Given the description of an element on the screen output the (x, y) to click on. 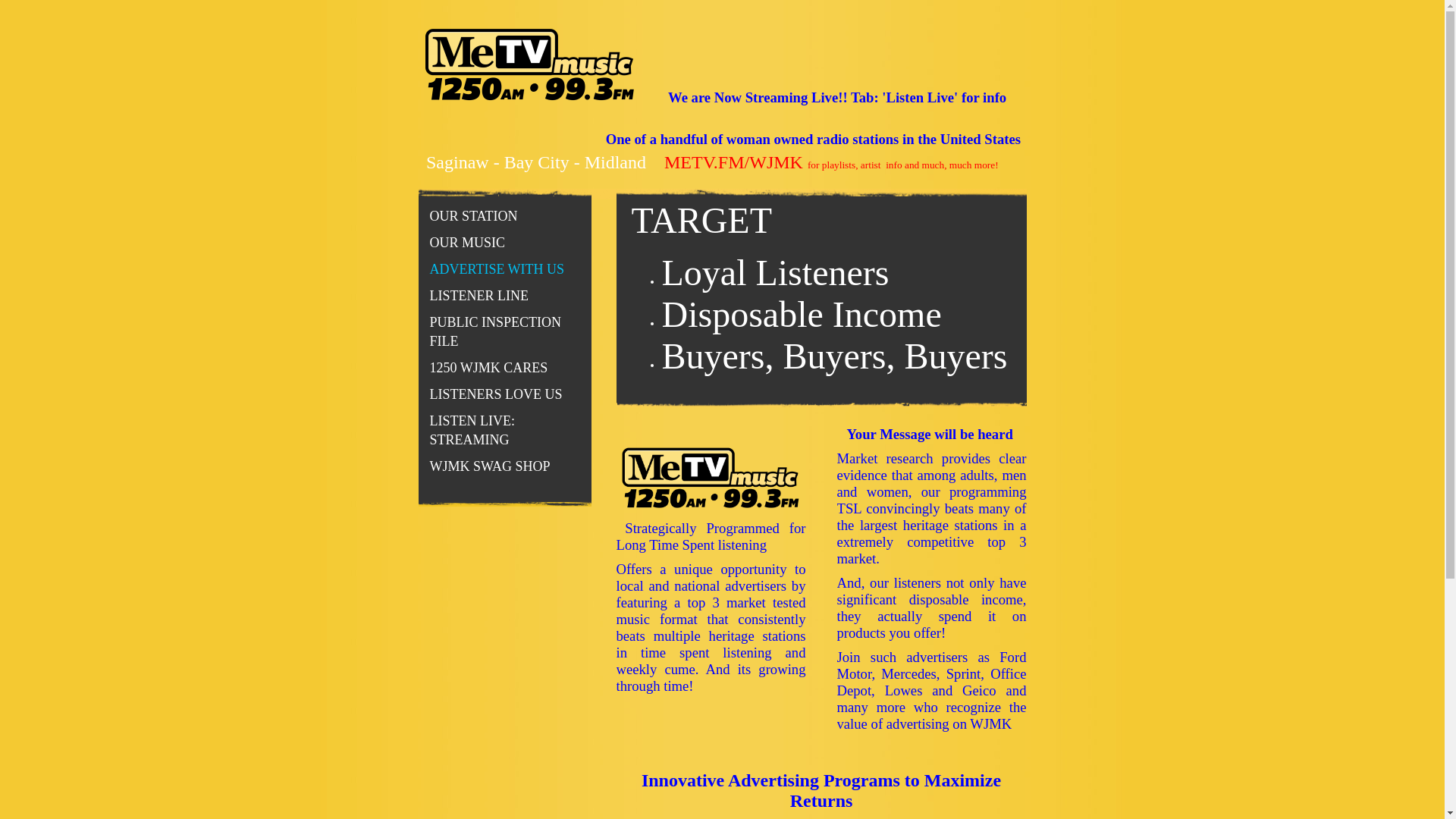
OUR STATION Element type: text (504, 216)
LISTENERS LOVE US Element type: text (504, 394)
PUBLIC INSPECTION FILE Element type: text (504, 331)
OUR MUSIC Element type: text (504, 242)
LISTEN LIVE: STREAMING Element type: text (504, 430)
LISTENER LINE Element type: text (504, 295)
1250 WJMK CARES Element type: text (504, 367)
WJMK SWAG SHOP Element type: text (504, 466)
ADVERTISE WITH US Element type: text (504, 269)
